Given the description of an element on the screen output the (x, y) to click on. 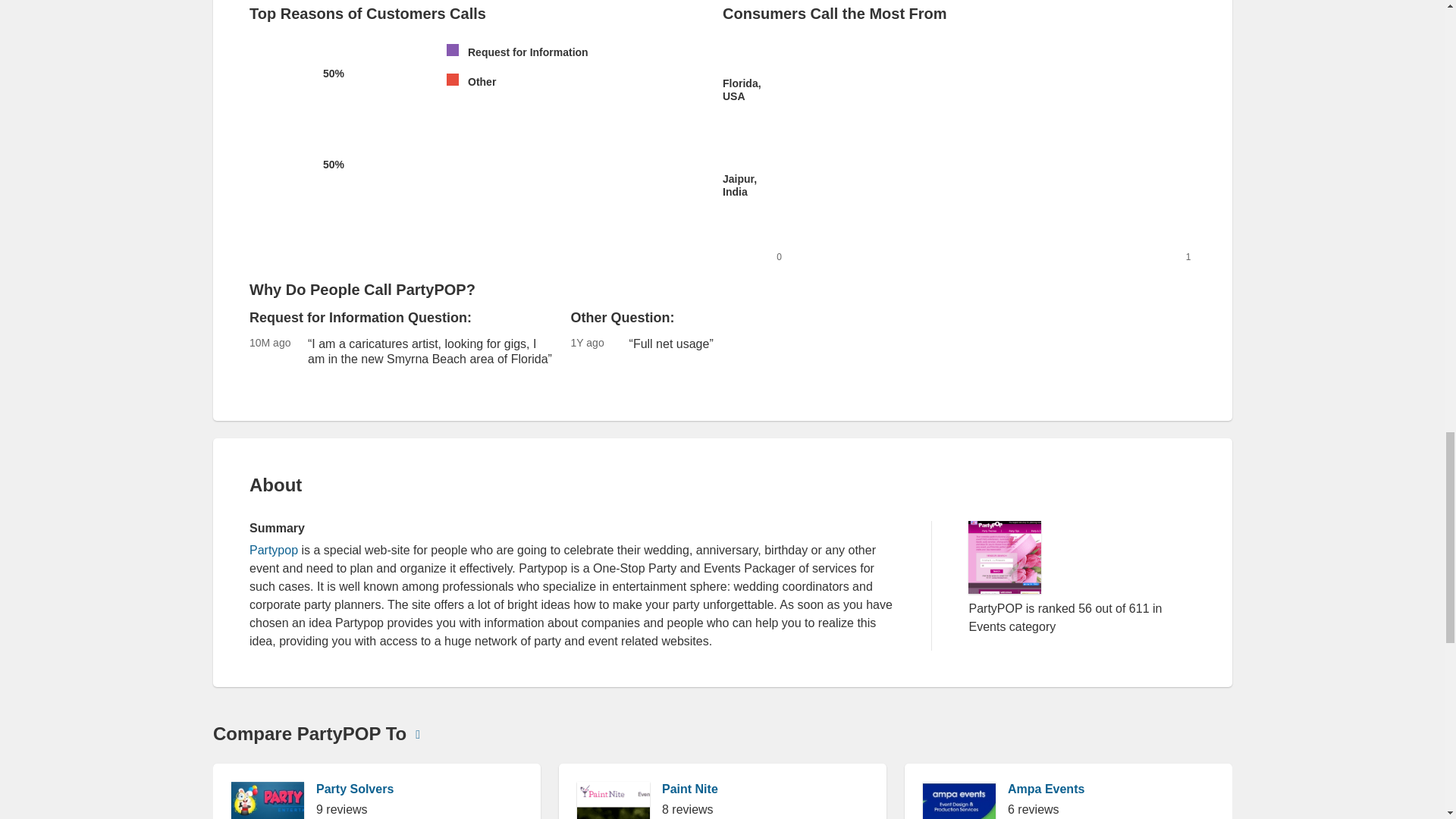
Partypop (272, 549)
Chart Top Reasons of Customers Calls (332, 119)
